Given the description of an element on the screen output the (x, y) to click on. 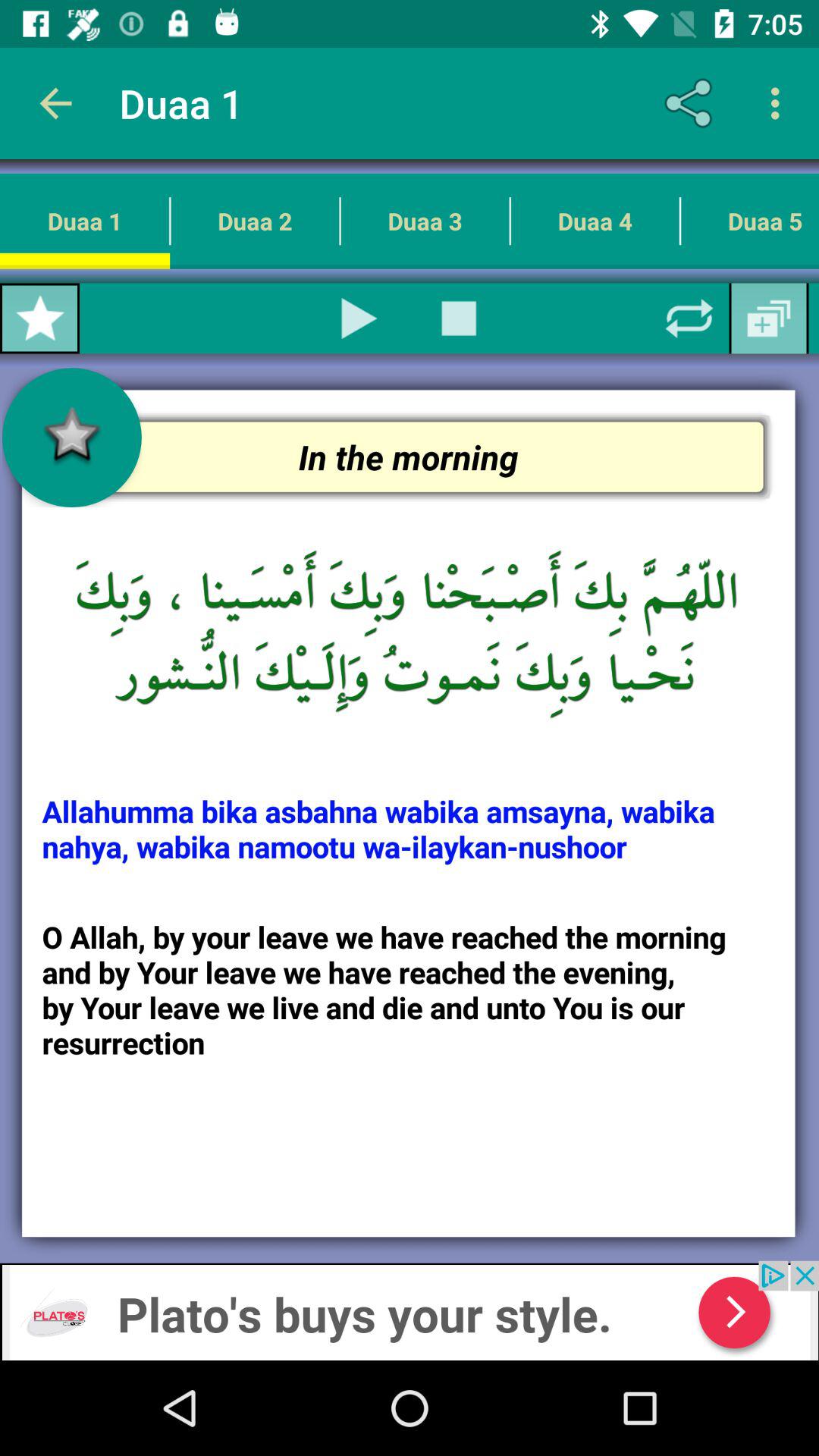
launch the item next to duaa 1 (359, 318)
